Given the description of an element on the screen output the (x, y) to click on. 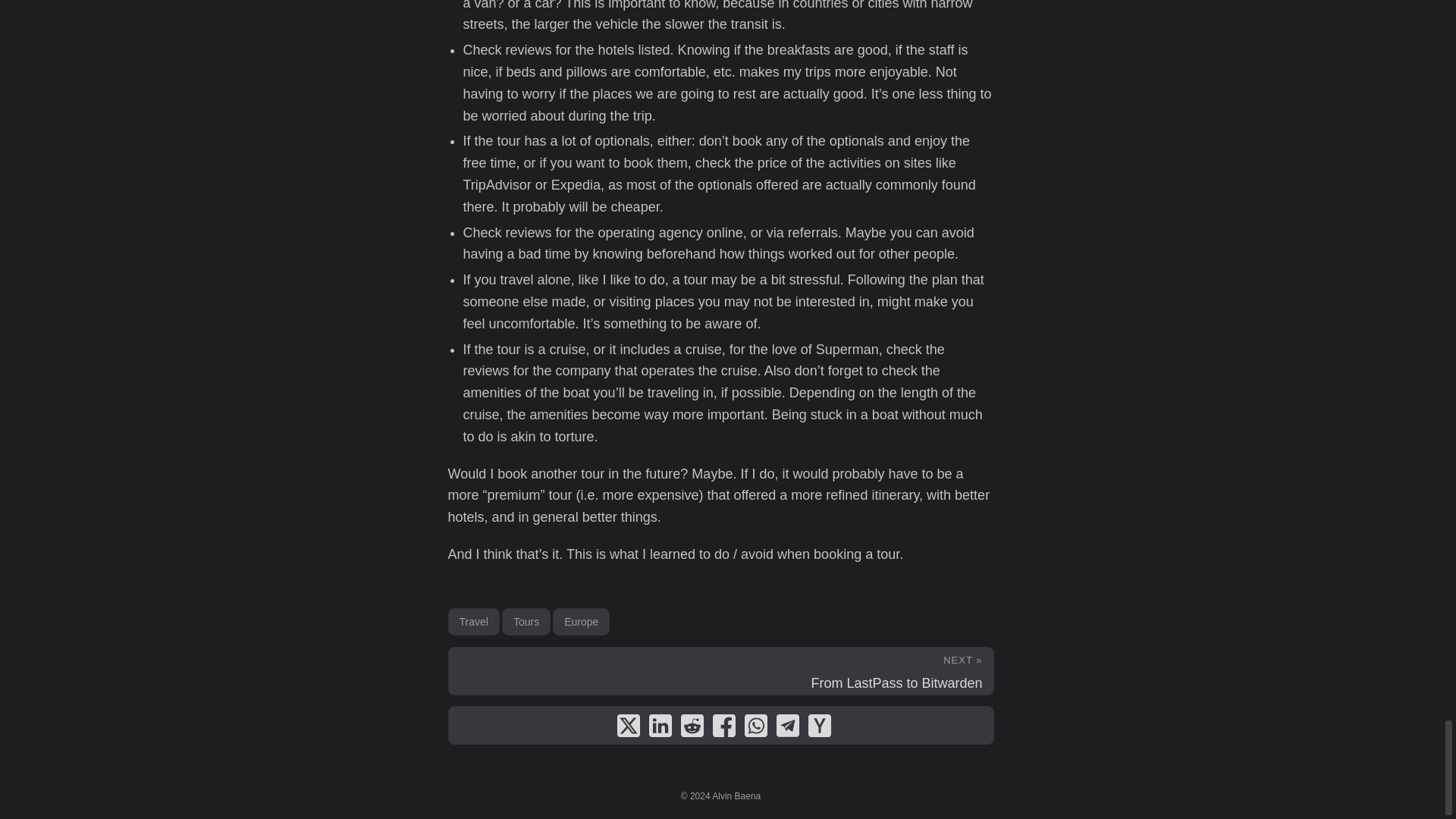
Travel (472, 621)
Europe (581, 621)
Tours (526, 621)
